Given the description of an element on the screen output the (x, y) to click on. 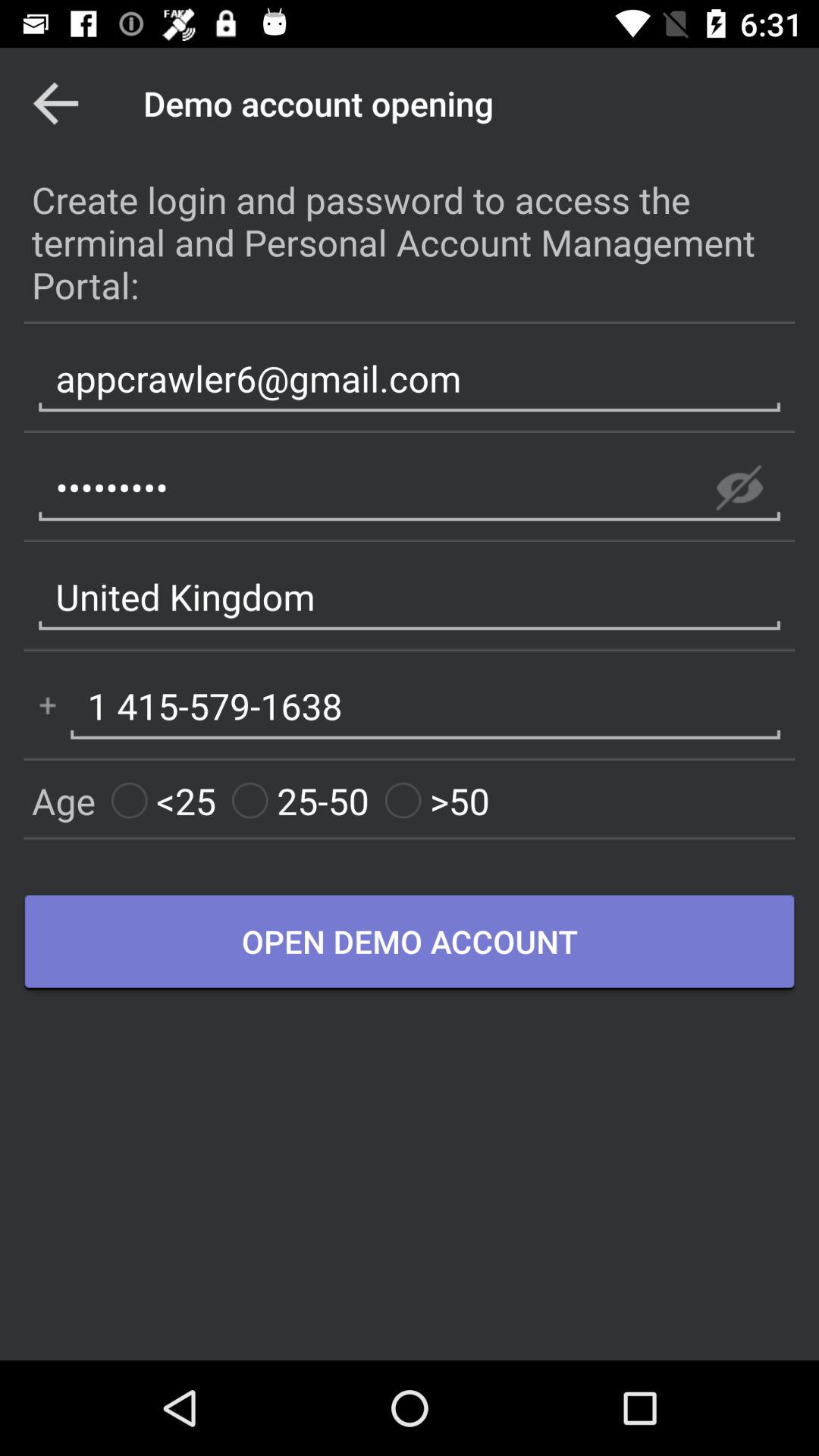
launch item above united kingdom (409, 487)
